Given the description of an element on the screen output the (x, y) to click on. 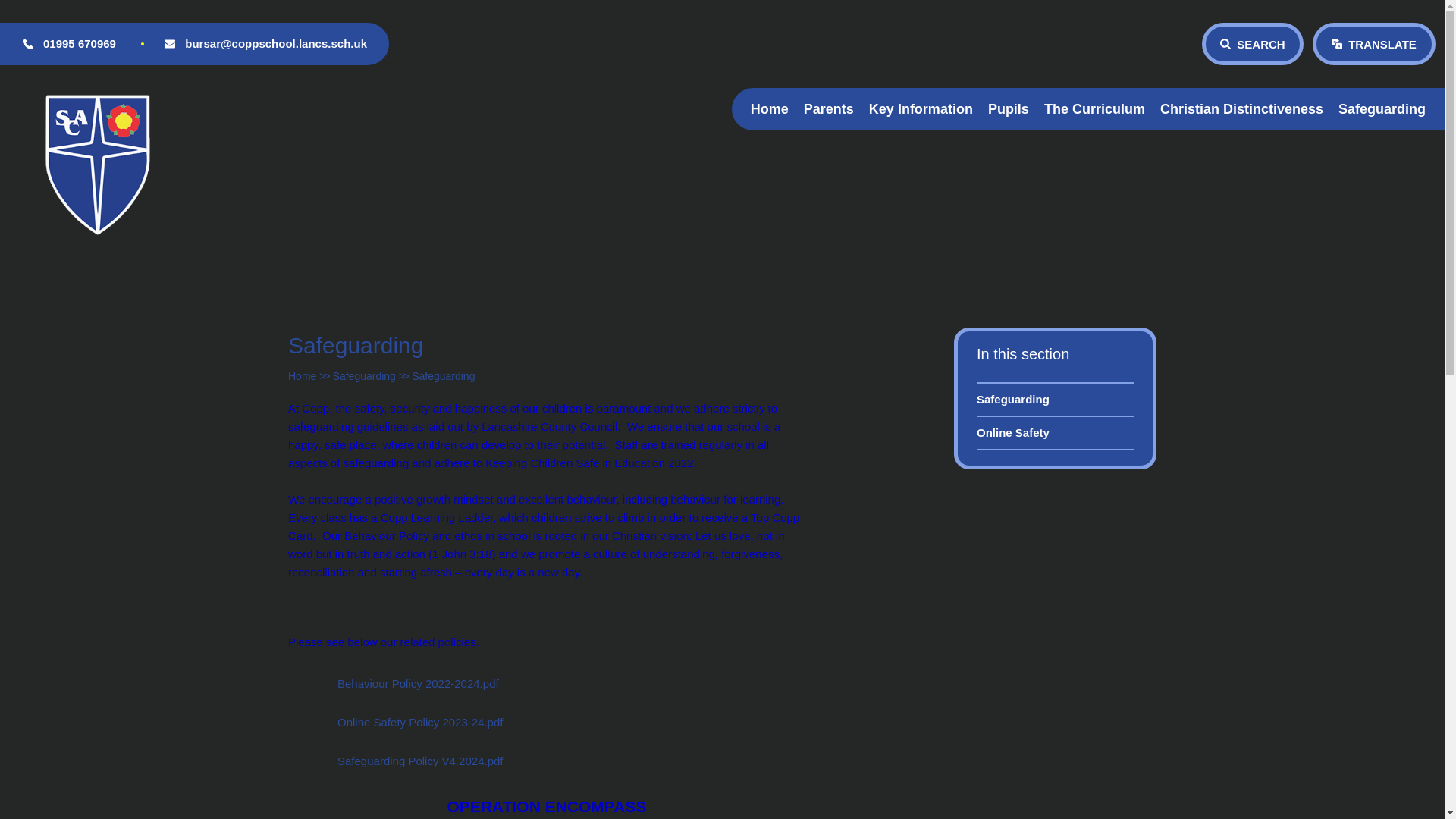
Parents (828, 109)
Key Information (920, 109)
Home (769, 109)
TRANSLATE (1374, 43)
01995 670969 (79, 44)
SEARCH (1252, 43)
